Given the description of an element on the screen output the (x, y) to click on. 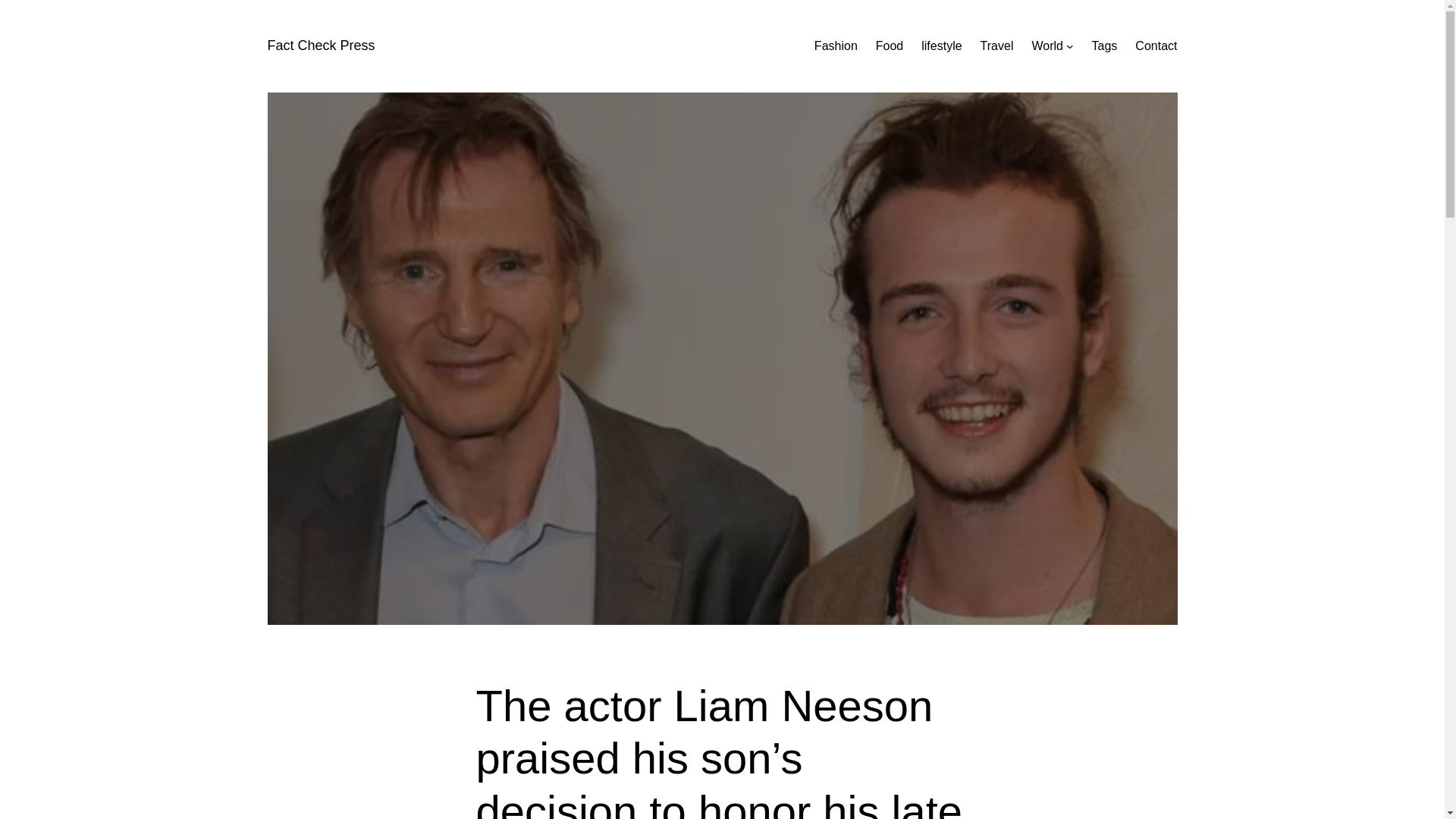
Contact (1155, 46)
Food (889, 46)
Travel (996, 46)
Tags (1105, 46)
Fact Check Press (320, 45)
lifestyle (940, 46)
Fashion (835, 46)
World (1046, 46)
